Given the description of an element on the screen output the (x, y) to click on. 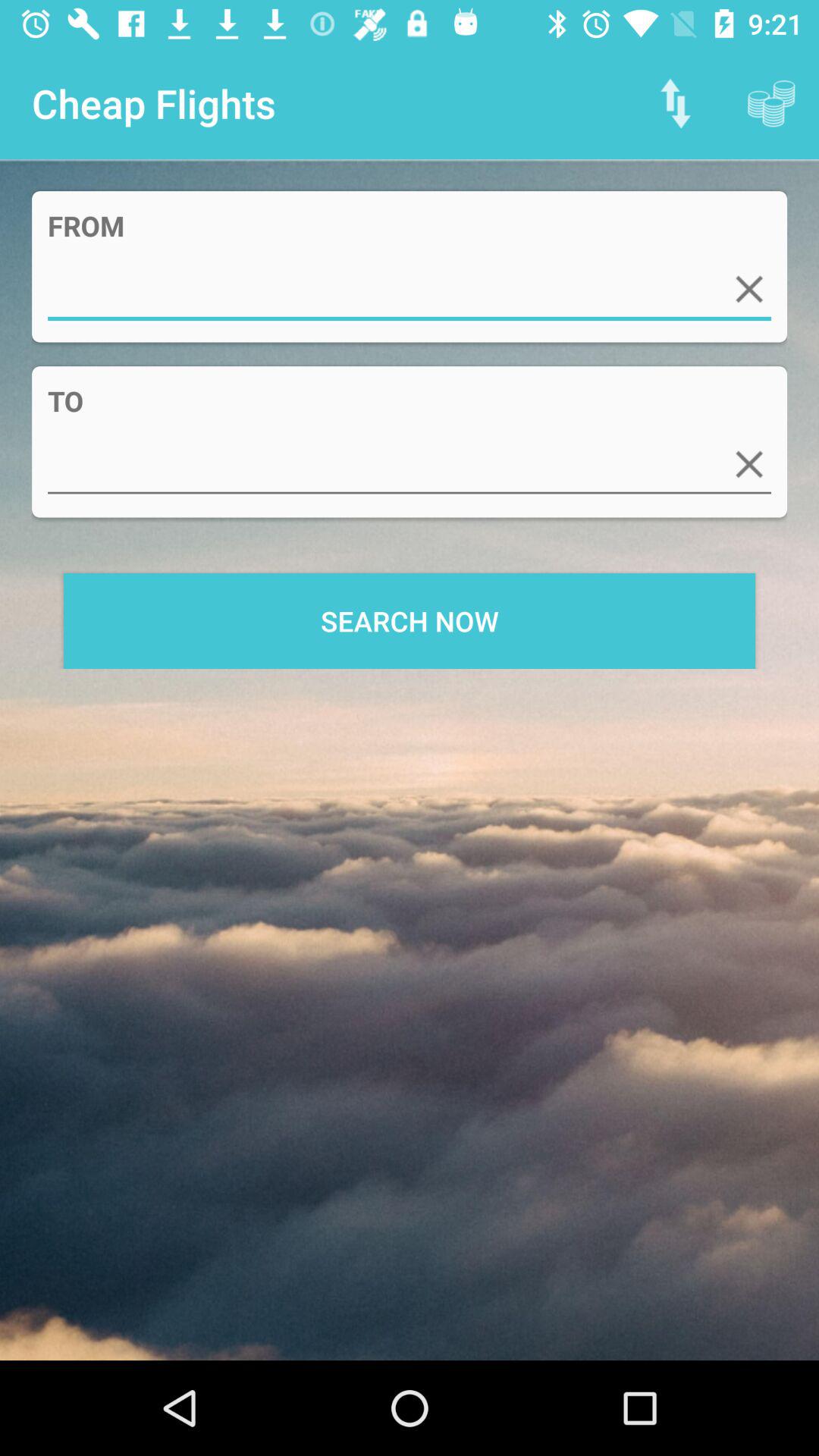
select search now item (409, 620)
